Given the description of an element on the screen output the (x, y) to click on. 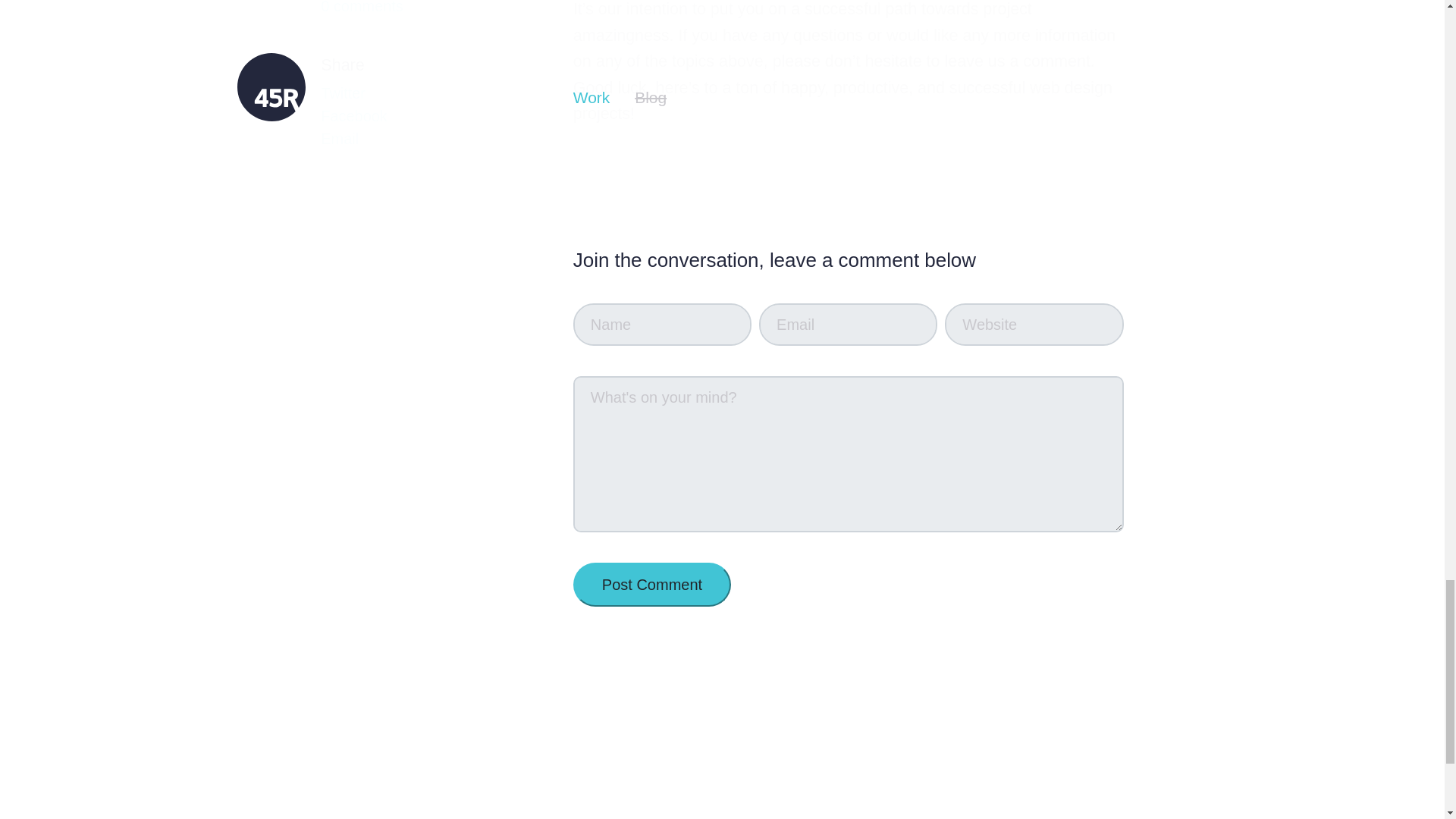
Post Comment (651, 584)
Post Comment (651, 584)
